Given the description of an element on the screen output the (x, y) to click on. 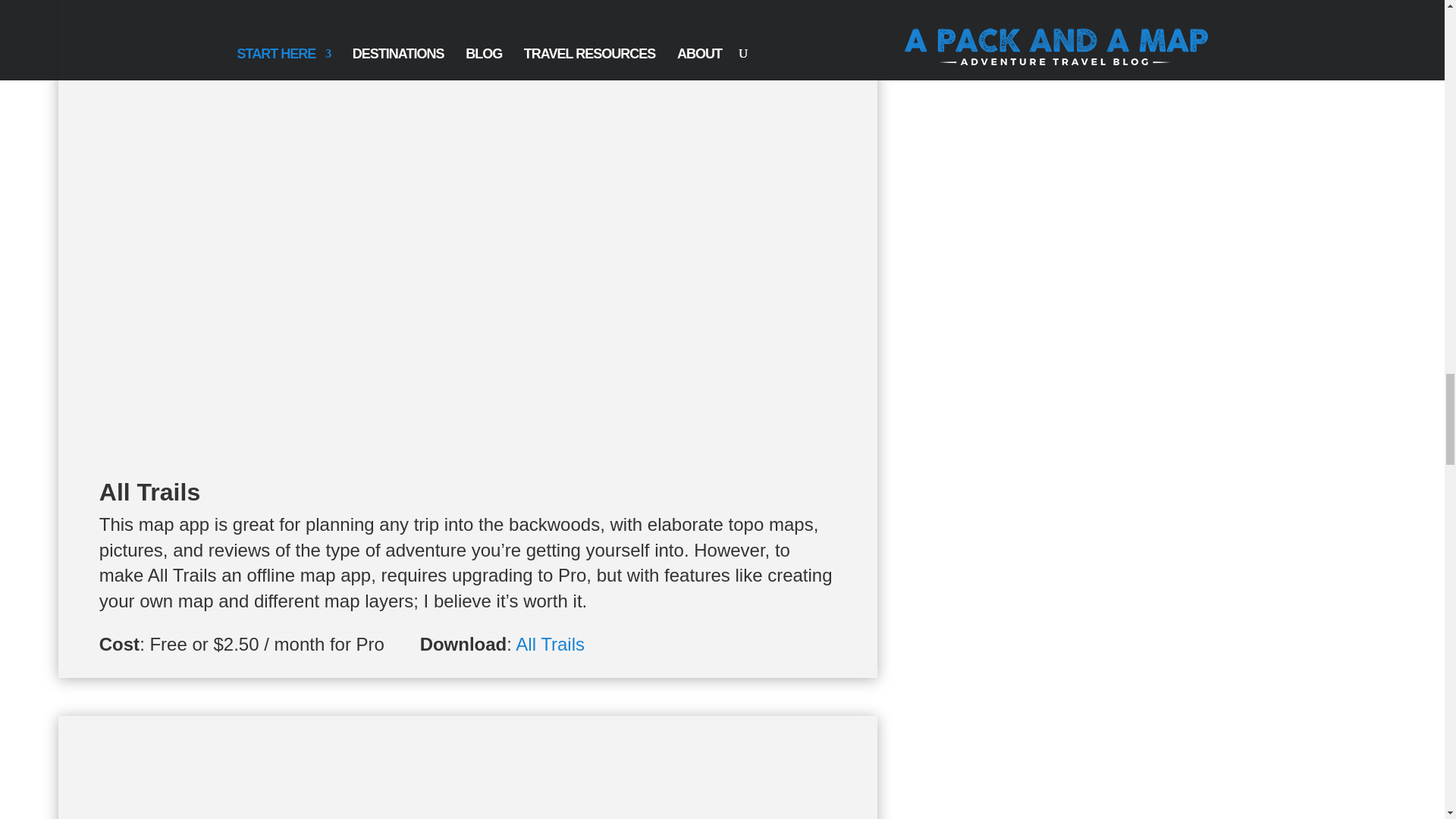
City Maps To Go Logo (467, 767)
All Trails (550, 643)
